Given the description of an element on the screen output the (x, y) to click on. 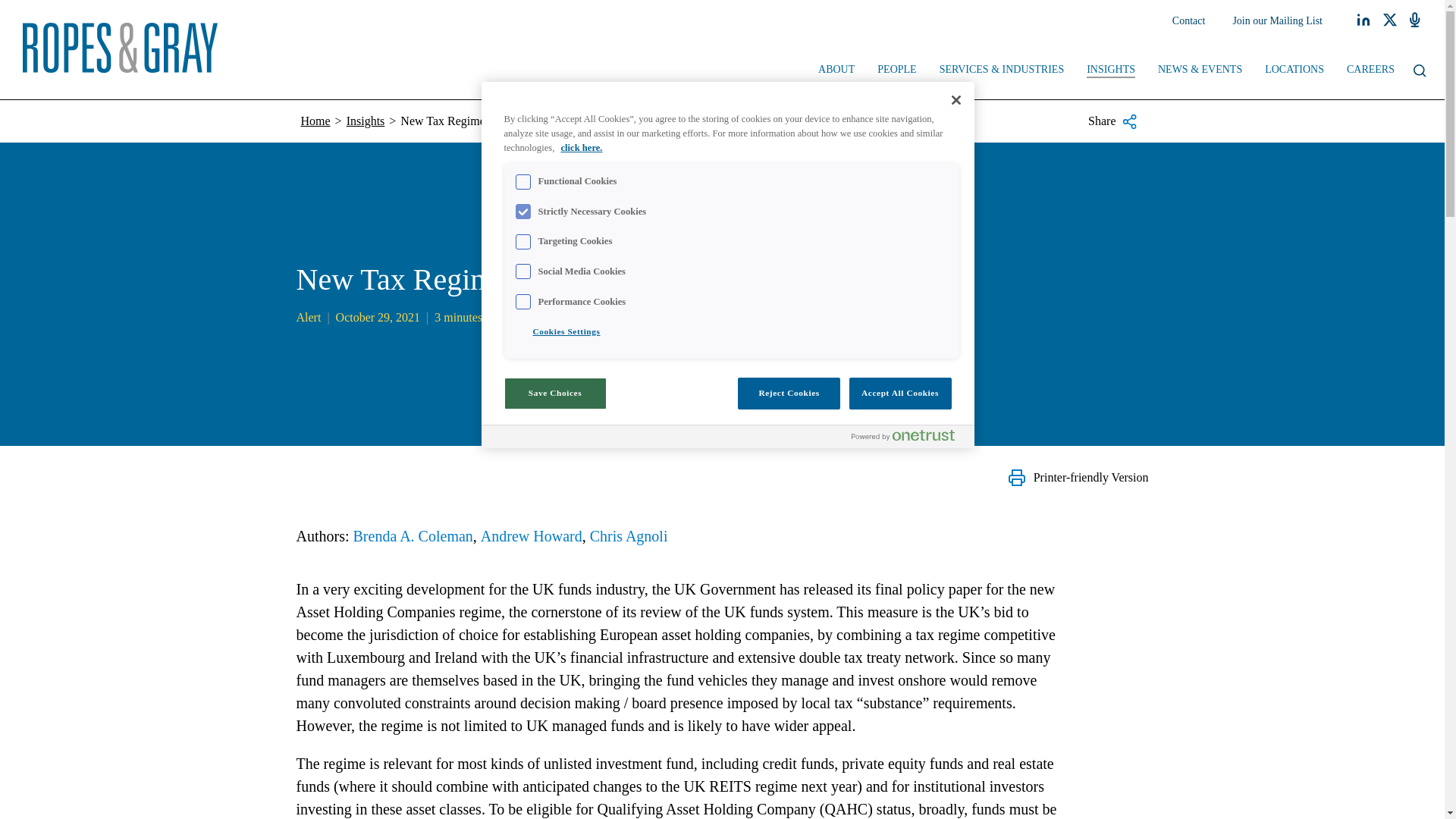
Home (314, 121)
Insights (366, 121)
PEOPLE (896, 70)
ABOUT (836, 70)
Brenda A. Coleman (413, 535)
Printer-friendly Version (1077, 477)
LOCATIONS (1294, 70)
Andrew Howard (531, 535)
CAREERS (1370, 70)
Join our Mailing List (1277, 21)
